Given the description of an element on the screen output the (x, y) to click on. 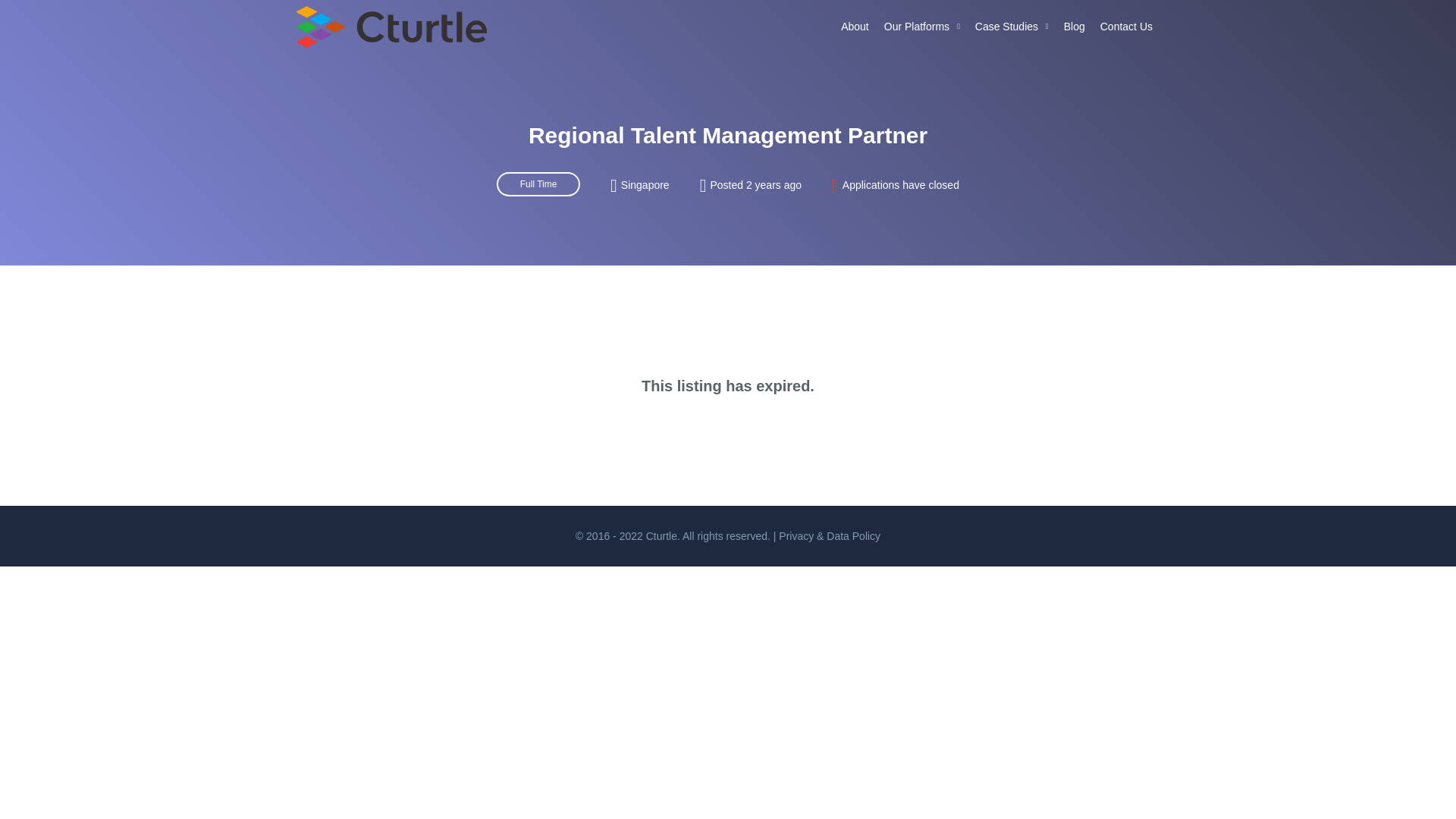
Cturtle (661, 535)
Contact Us (1126, 26)
Our Platforms (922, 26)
Case Studies (1012, 26)
Blog (1075, 26)
Singapore (645, 184)
About (854, 26)
